Given the description of an element on the screen output the (x, y) to click on. 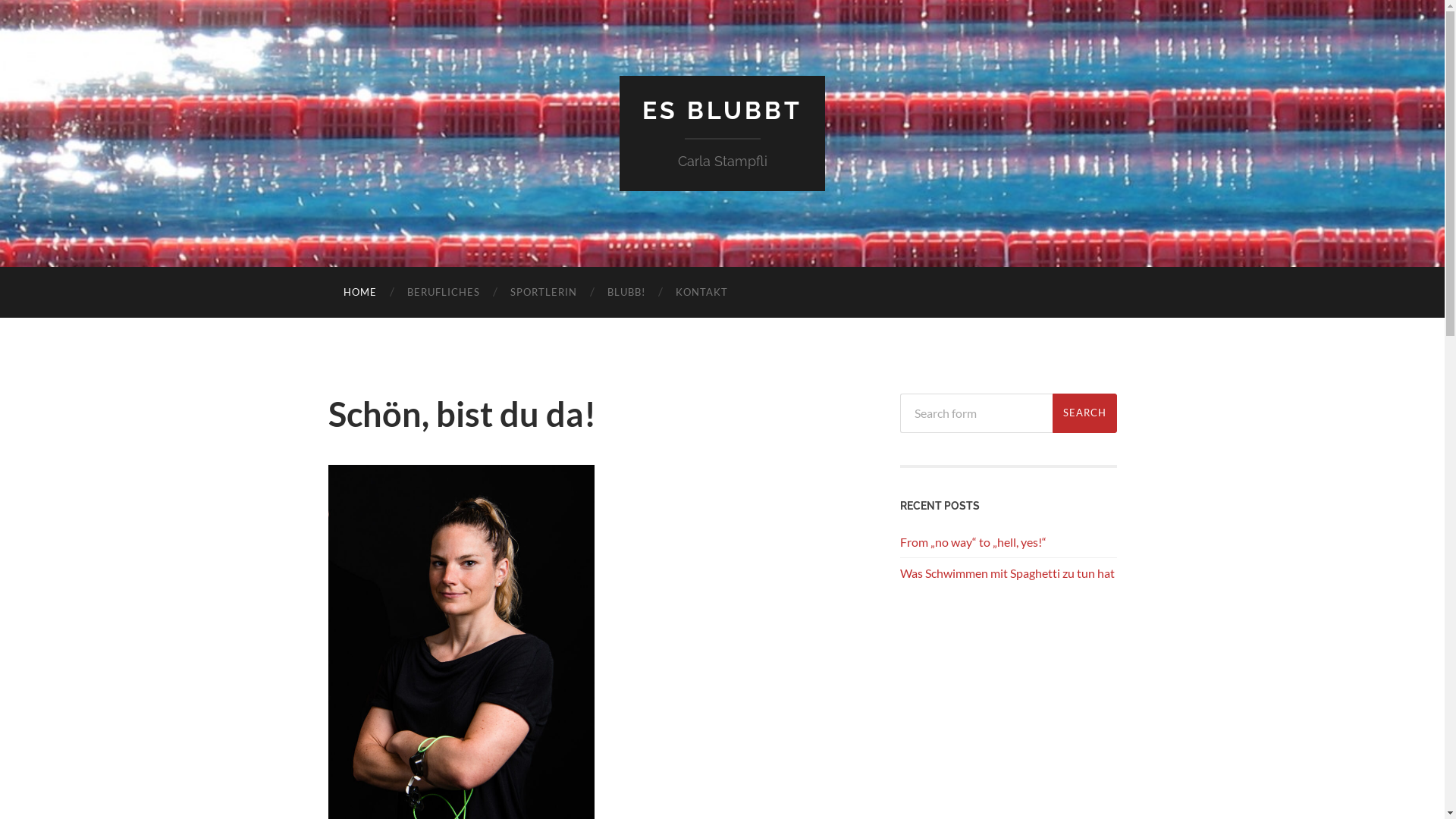
BLUBB! Element type: text (625, 291)
HOME Element type: text (359, 291)
Was Schwimmen mit Spaghetti zu tun hat Element type: text (1006, 572)
Search Element type: text (1084, 412)
KONTAKT Element type: text (700, 291)
BERUFLICHES Element type: text (442, 291)
SPORTLERIN Element type: text (542, 291)
ES BLUBBT Element type: text (722, 110)
